Given the description of an element on the screen output the (x, y) to click on. 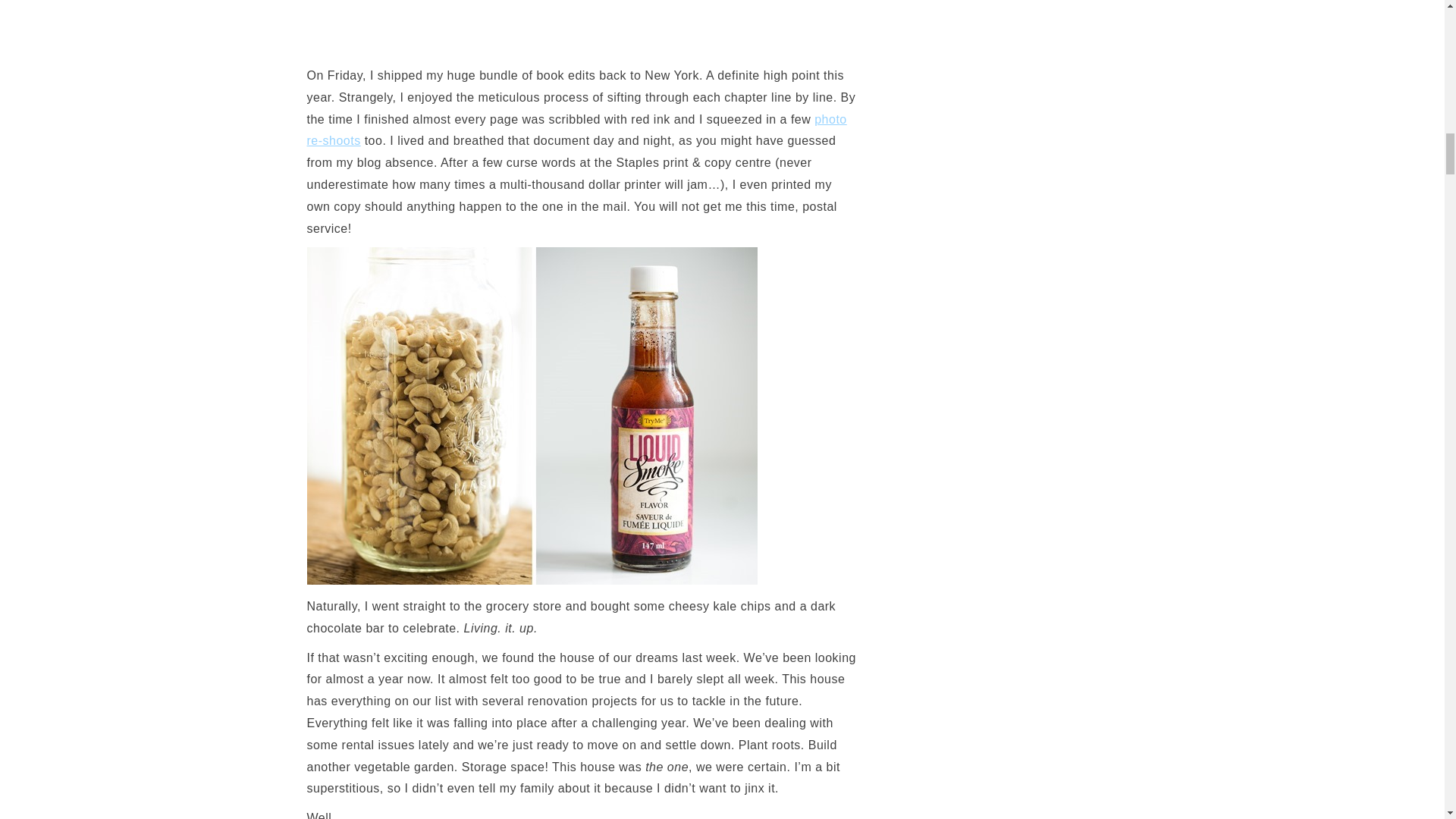
photo re-shoots (575, 130)
